Given the description of an element on the screen output the (x, y) to click on. 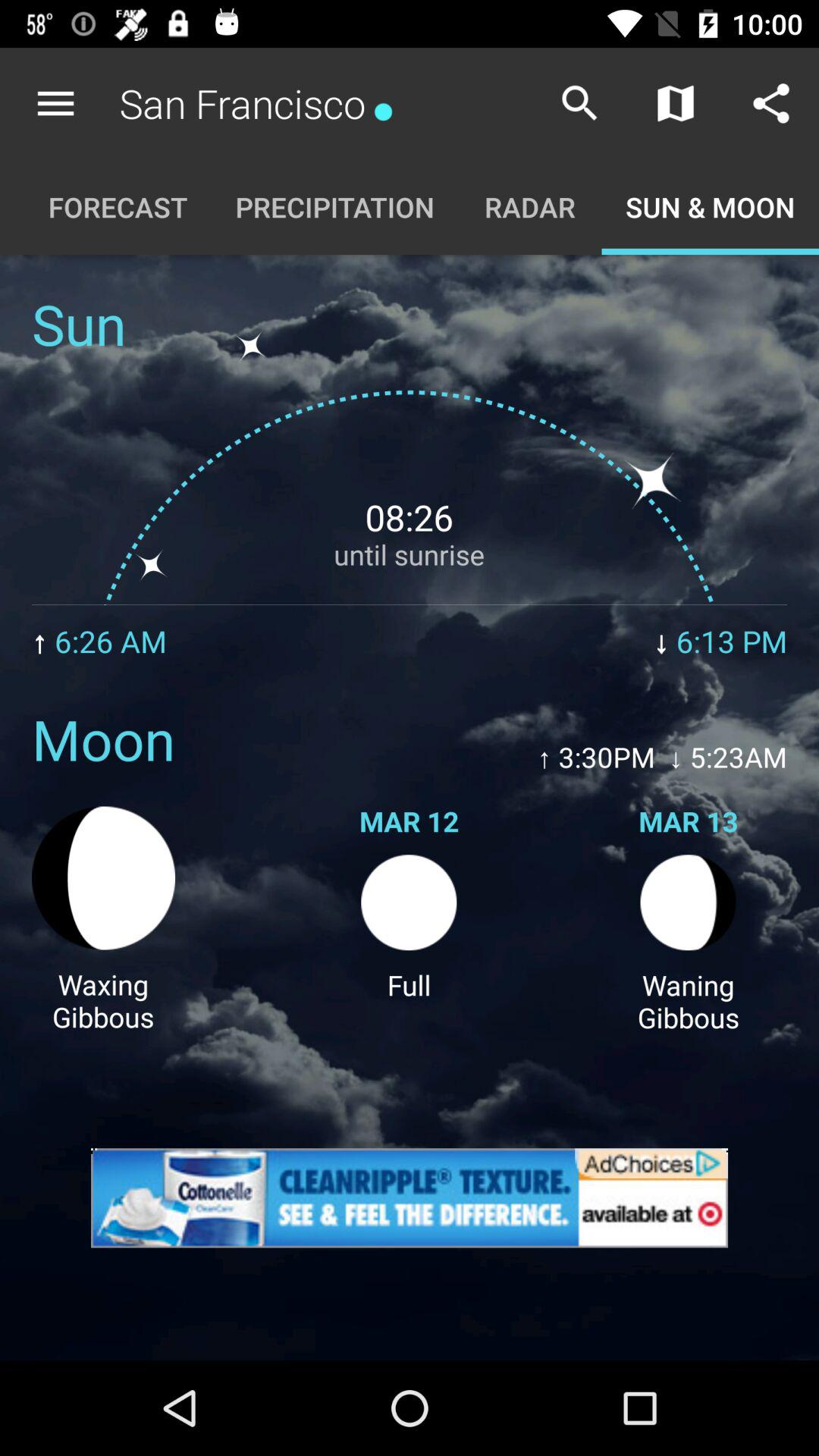
launch item to the left of the full item (103, 1000)
